Given the description of an element on the screen output the (x, y) to click on. 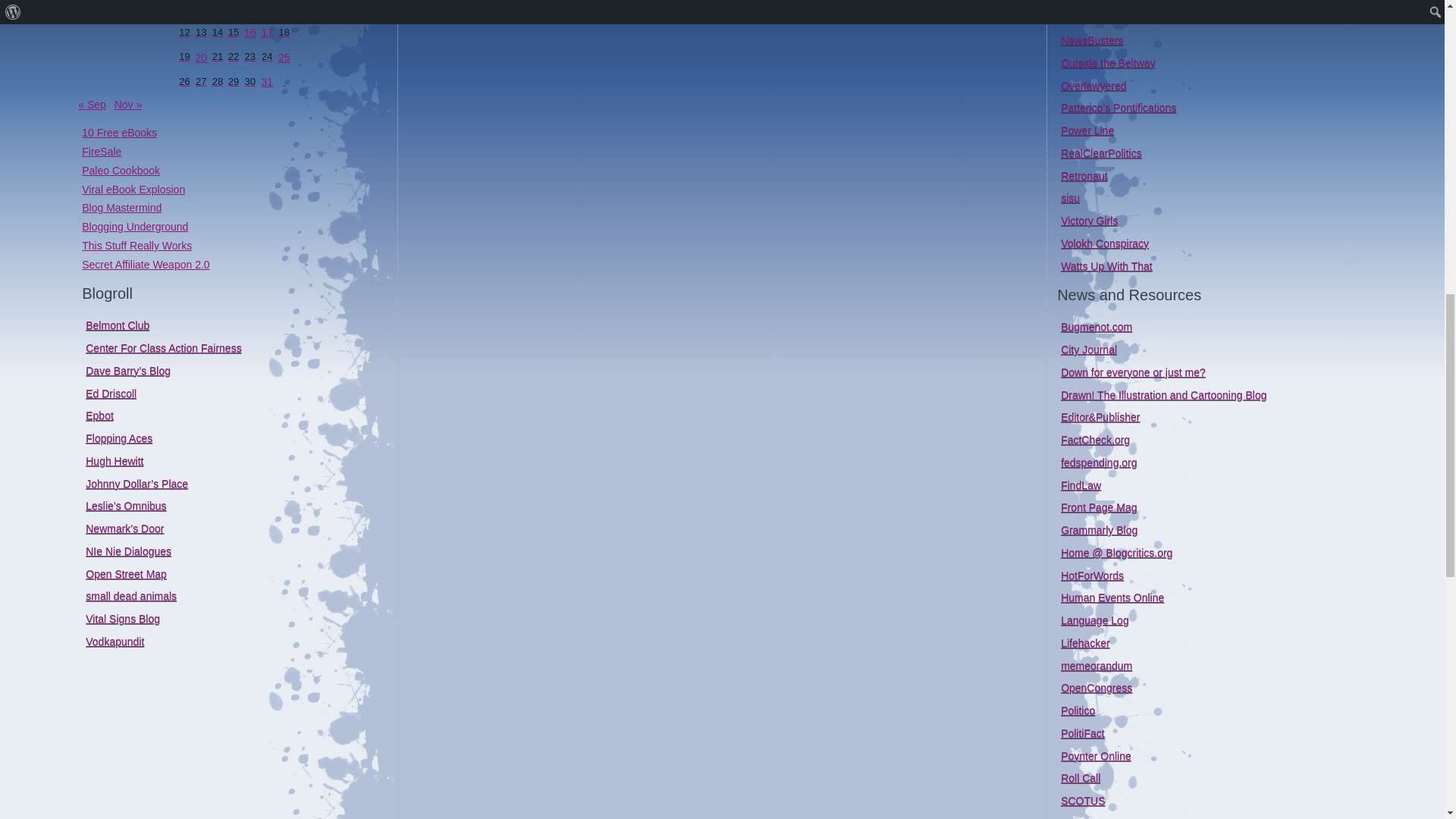
Secret Affiliate Weapon 2.0 (145, 263)
Viral eBook Explosion (132, 189)
This Stuff Really Works (136, 245)
Ed Driscoll (110, 392)
Hugh Hewitt (113, 460)
Center For Class Action Fairness (163, 347)
Blog Mastermind (121, 207)
Ed Driscoll (110, 392)
Flopping Aces (118, 438)
